Given the description of an element on the screen output the (x, y) to click on. 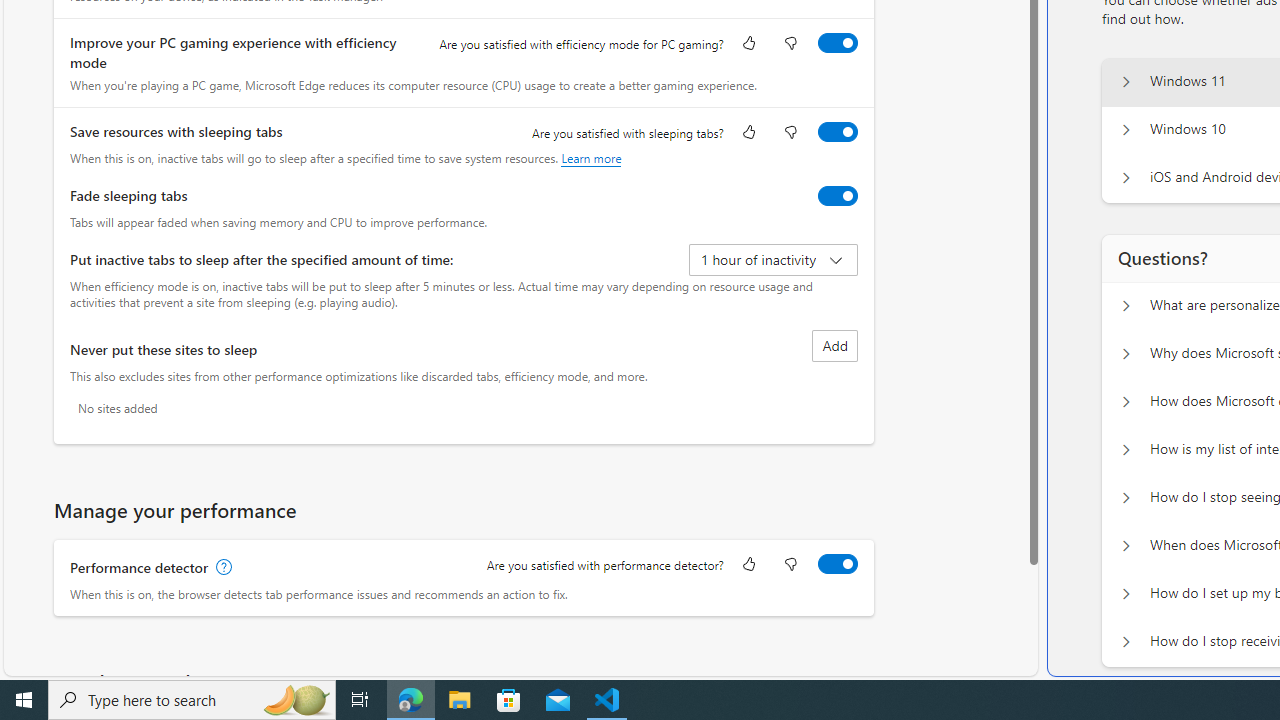
Questions? What are personalized ads? (1125, 306)
Questions? How does Microsoft deliver personalized ads? (1125, 401)
Performance detector (837, 563)
Fade sleeping tabs (837, 195)
Learn more (591, 158)
Manage personalized ads on your device Windows 10 (1125, 129)
Save resources with sleeping tabs (837, 131)
Improve your PC gaming experience with efficiency mode (837, 43)
Performance detector, learn more (221, 567)
Add site to never put these sites to sleep list (834, 345)
Manage personalized ads on your device Windows 11 (1125, 82)
